Given the description of an element on the screen output the (x, y) to click on. 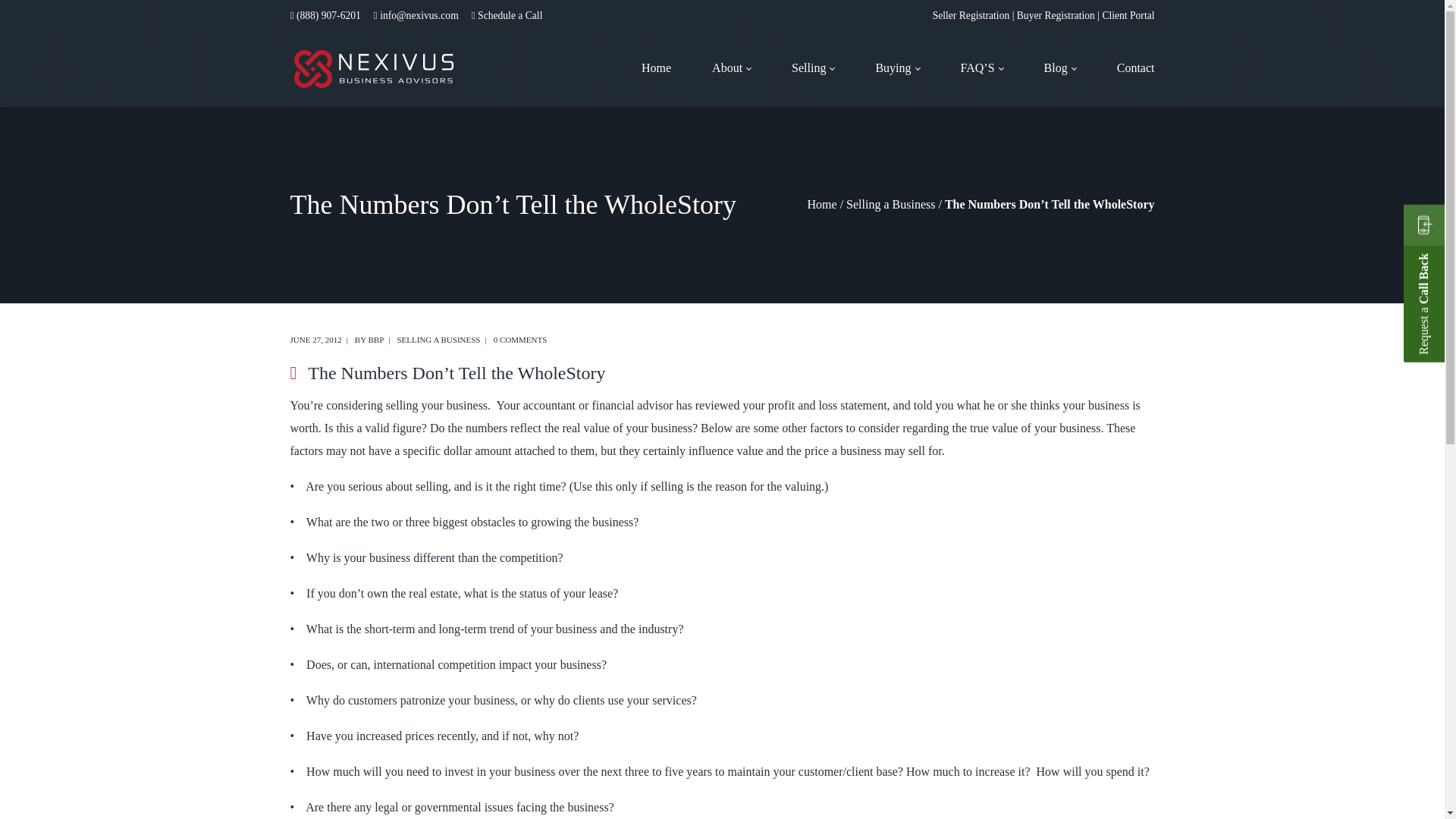
Client Portal (1128, 15)
Seller Registration (971, 15)
Buyer Registration (1055, 15)
Schedule a Call (509, 15)
